Given the description of an element on the screen output the (x, y) to click on. 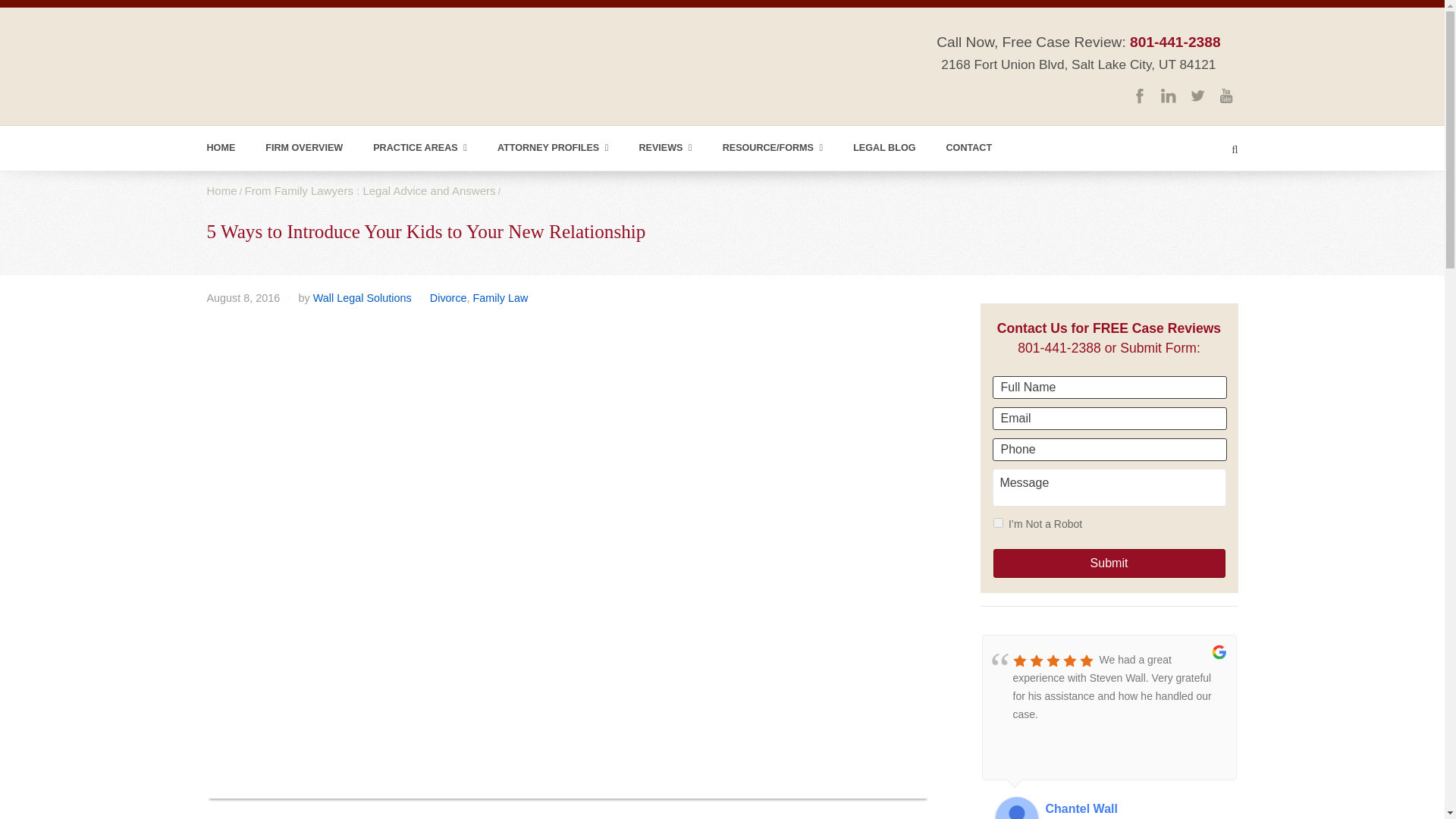
Phone (1108, 449)
ATTORNEY PROFILES (552, 148)
CONTACT (968, 148)
Email (1108, 418)
HOME (220, 148)
CONTACT US (968, 148)
PRACTICE AREAS (419, 148)
Full Name (1108, 386)
FIRM OVERVIEW (304, 148)
HOME (220, 148)
